Given the description of an element on the screen output the (x, y) to click on. 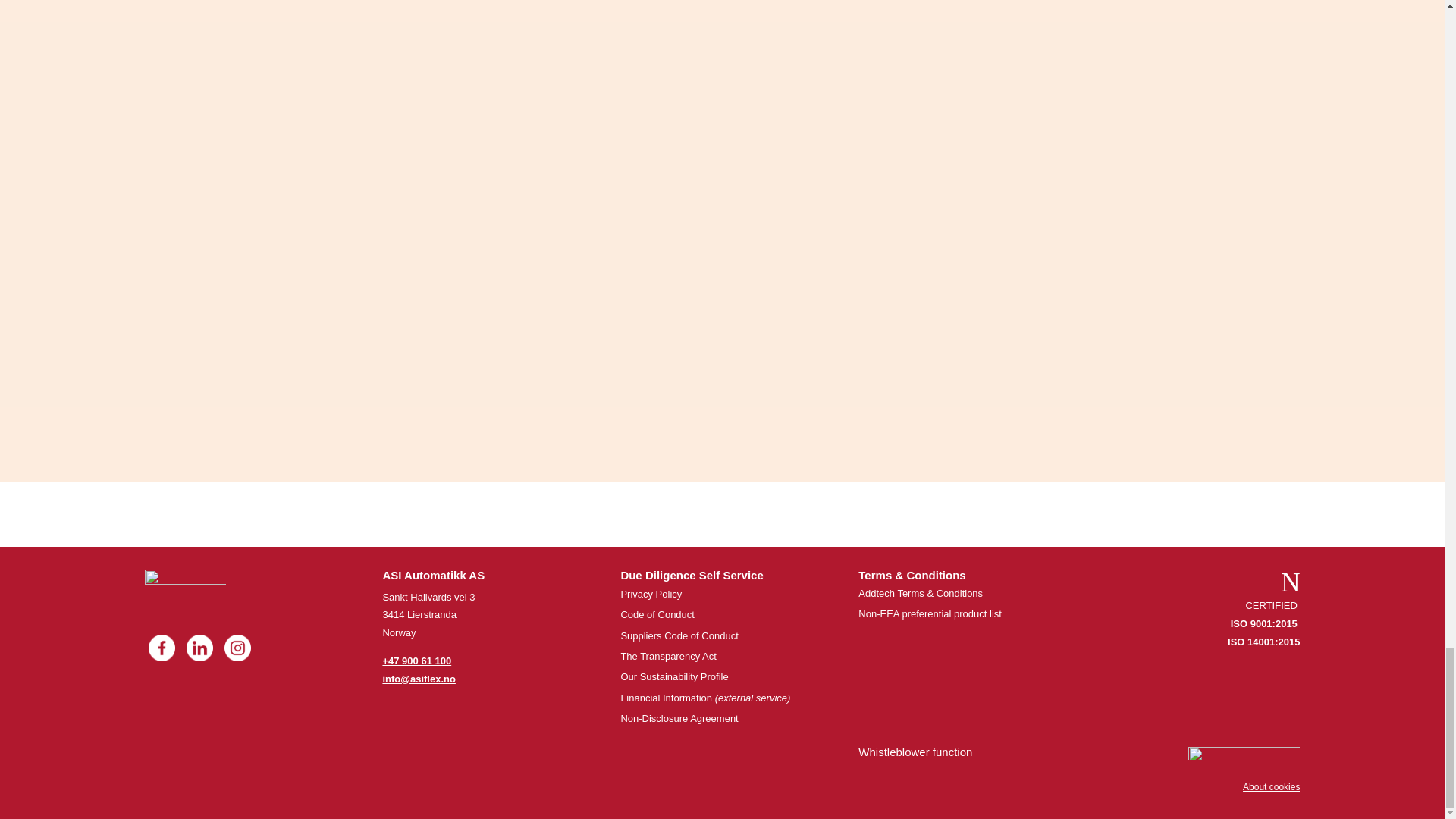
HMI2023-igus-booth-min (1290, 587)
asiflex-w (184, 590)
